Given the description of an element on the screen output the (x, y) to click on. 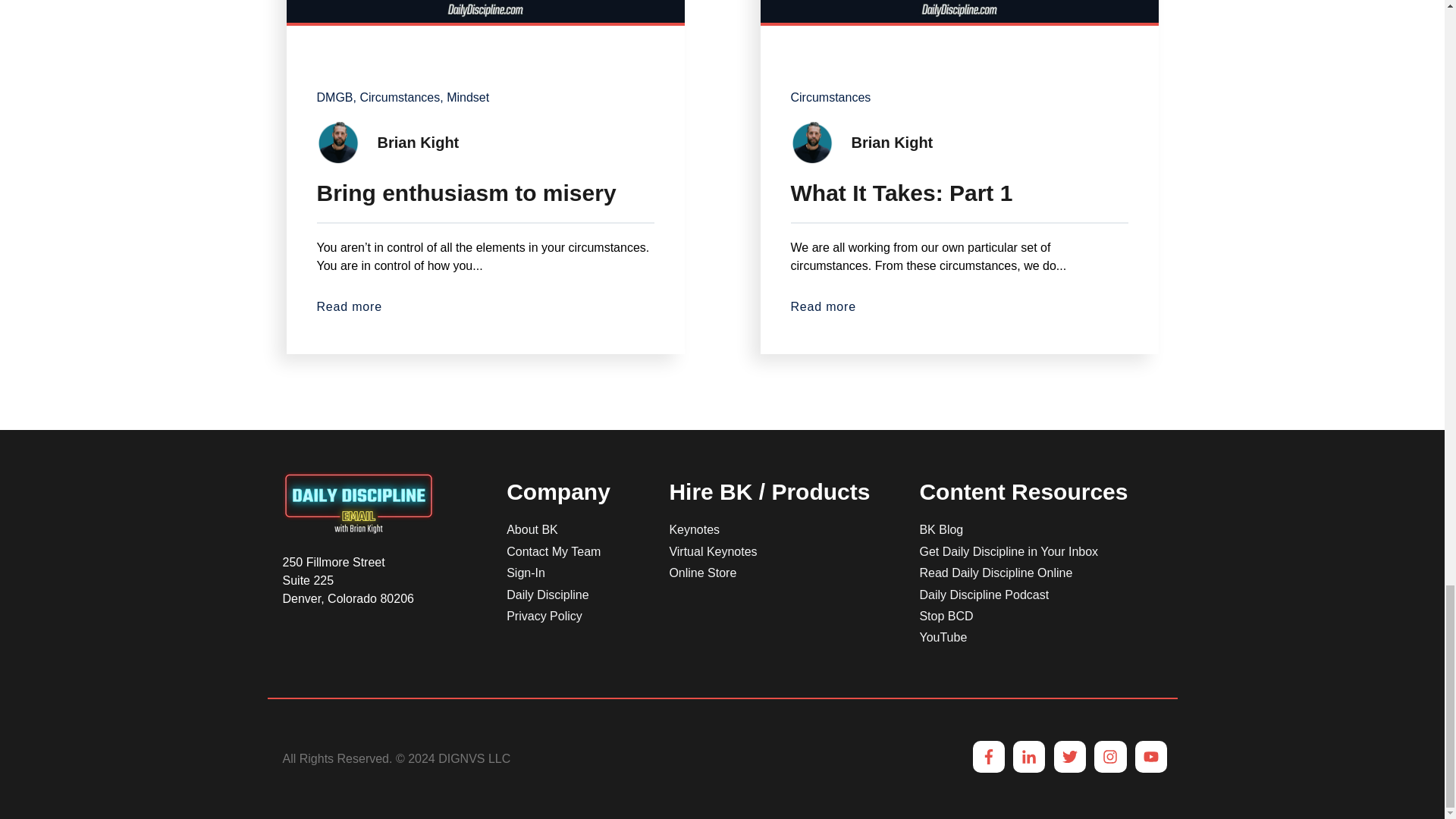
Daily Discipline Podcast (983, 594)
Stop BCD (945, 615)
Get Daily Discipline in Your Inbox (1007, 551)
Online Store (702, 572)
What It Takes: Part 1 (958, 186)
Read more (958, 307)
Keynotes (693, 529)
YouTube (942, 636)
Privacy Policy (544, 615)
Read more (485, 307)
